Given the description of an element on the screen output the (x, y) to click on. 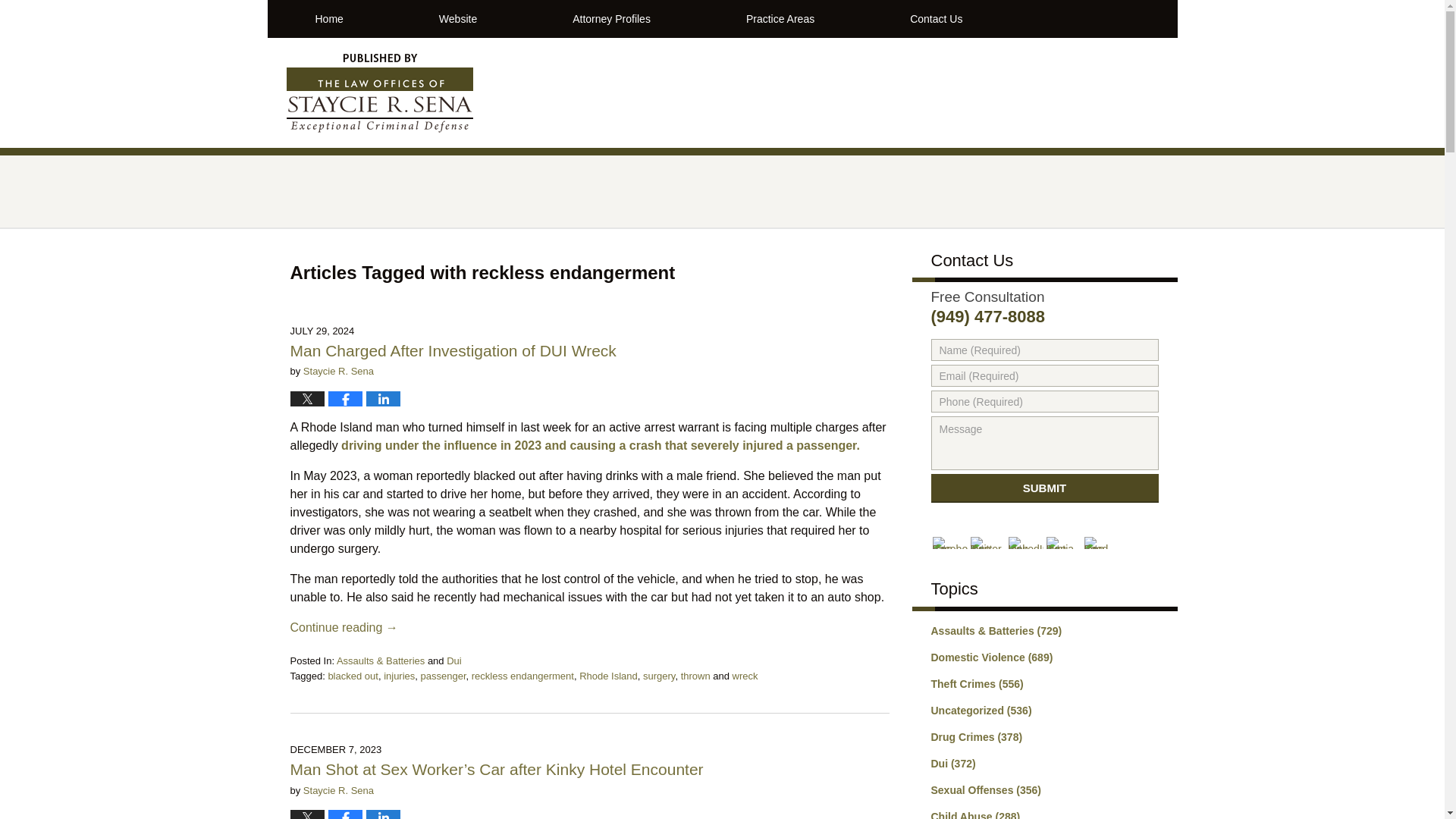
Staycie R. Sena (338, 790)
View all posts tagged with Rhode Island (608, 675)
wreck (745, 675)
View all posts tagged with blacked out (352, 675)
Rhode Island (608, 675)
View all posts in Dui (453, 660)
View all posts tagged with injuries (399, 675)
Dui (453, 660)
Published By Law Offices Of Staycie R. Sena (1012, 93)
Contact Us (935, 18)
View all posts tagged with passenger (442, 675)
View all posts tagged with surgery (659, 675)
reckless endangerment (522, 675)
thrown (695, 675)
